Given the description of an element on the screen output the (x, y) to click on. 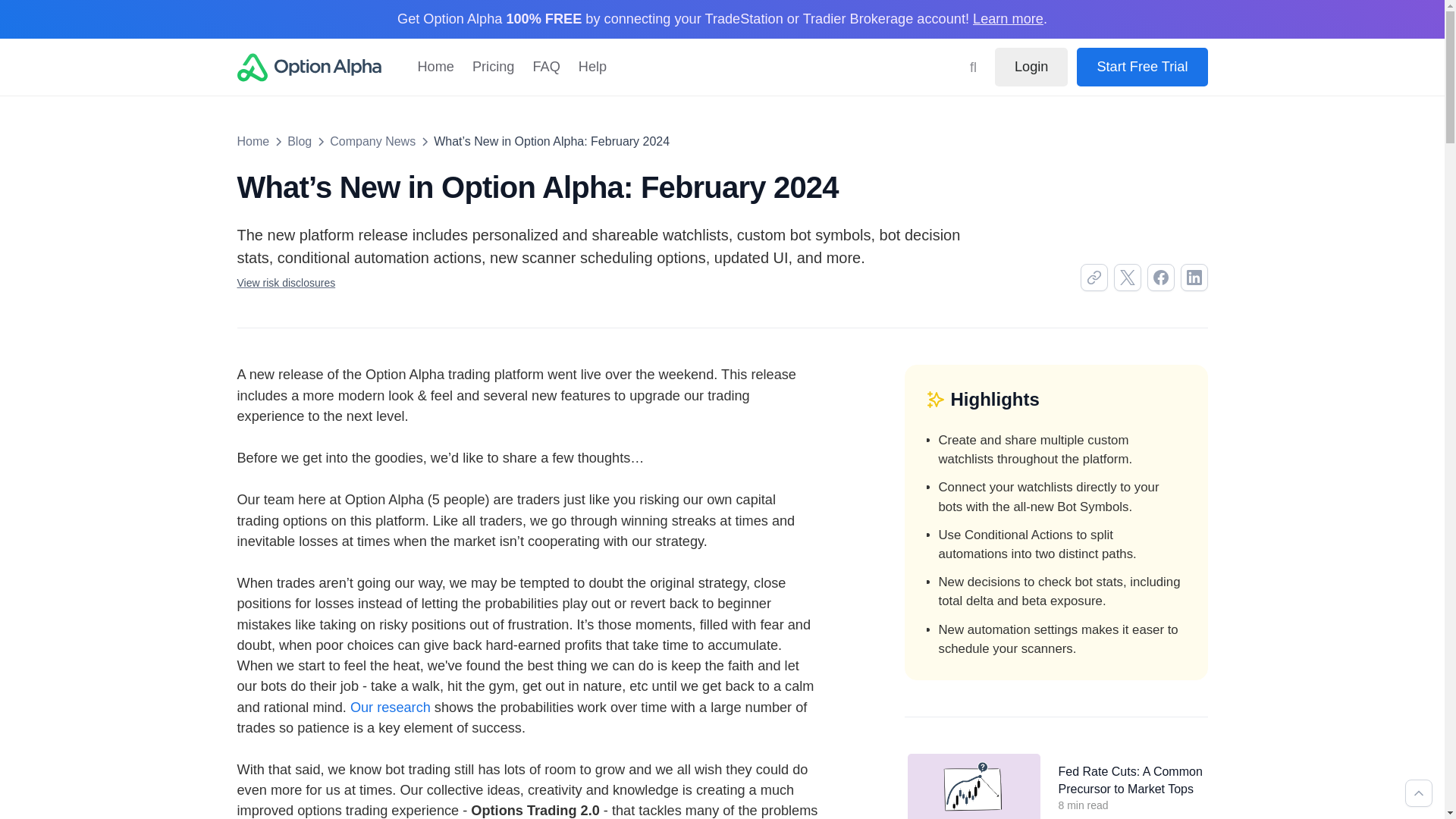
View risk disclosures (284, 282)
Pricing (493, 66)
Start Free Trial (1142, 66)
FAQ (545, 66)
Company News (372, 141)
Help (592, 66)
Share on Twitter (1126, 277)
Home (435, 66)
Home (252, 141)
Login (1030, 66)
